Given the description of an element on the screen output the (x, y) to click on. 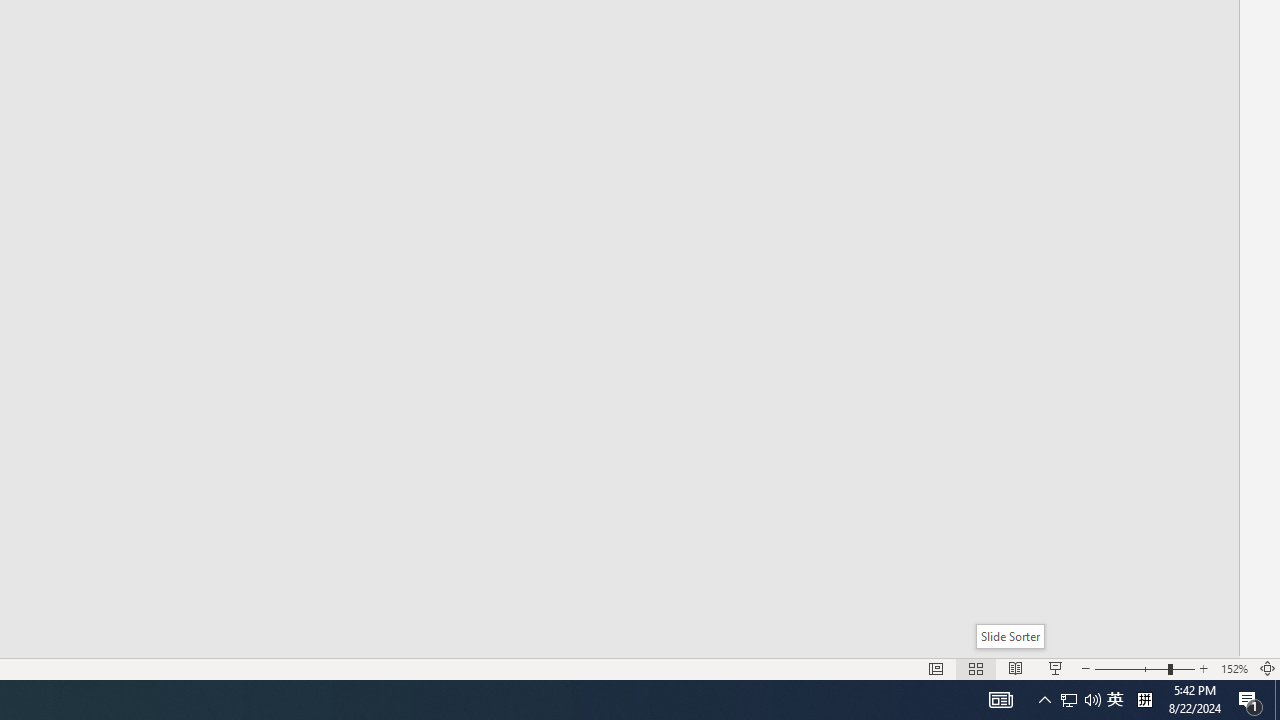
Zoom 152% (1234, 668)
